Given the description of an element on the screen output the (x, y) to click on. 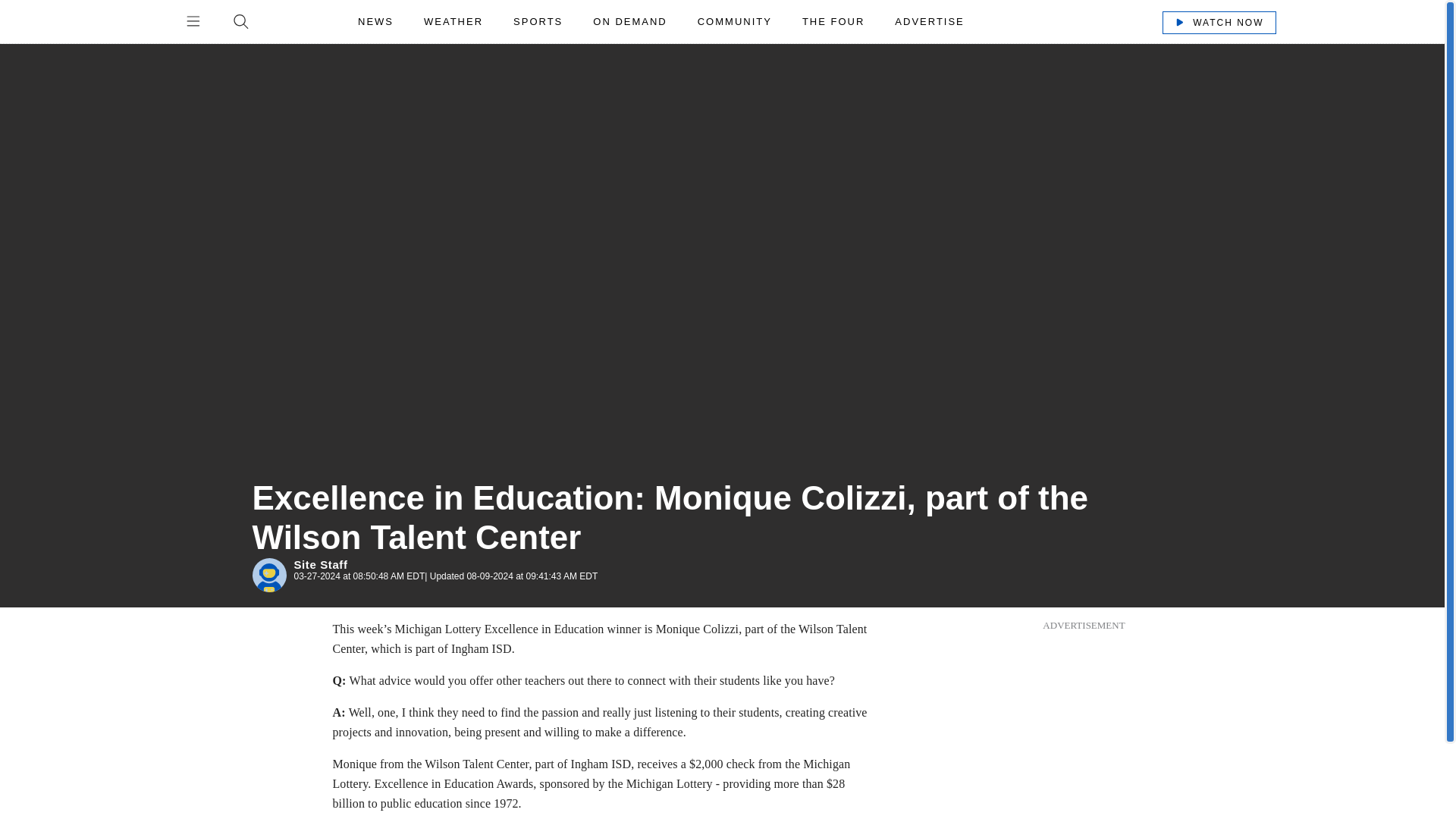
THE FOUR (833, 21)
COMMUNITY (734, 21)
ON DEMAND (629, 21)
ADVERTISE (928, 21)
NEWS (375, 21)
SPORTS (537, 21)
WEATHER (453, 21)
WATCH NOW (1218, 21)
